Given the description of an element on the screen output the (x, y) to click on. 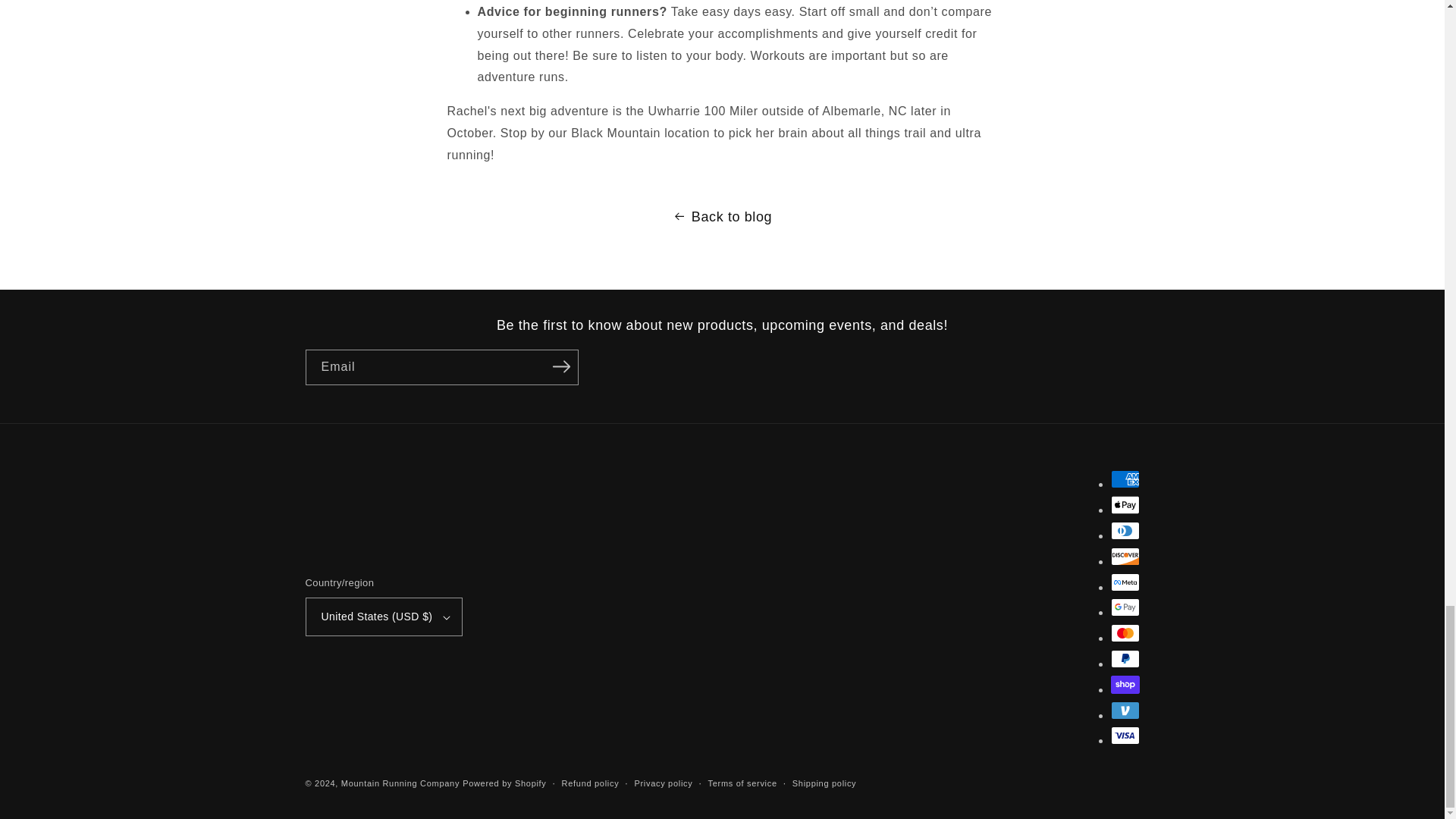
PayPal (1123, 659)
Meta Pay (1123, 582)
Diners Club (1123, 530)
Mastercard (1123, 633)
Google Pay (1123, 607)
American Express (1123, 479)
Apple Pay (1123, 505)
Discover (1123, 556)
